Given the description of an element on the screen output the (x, y) to click on. 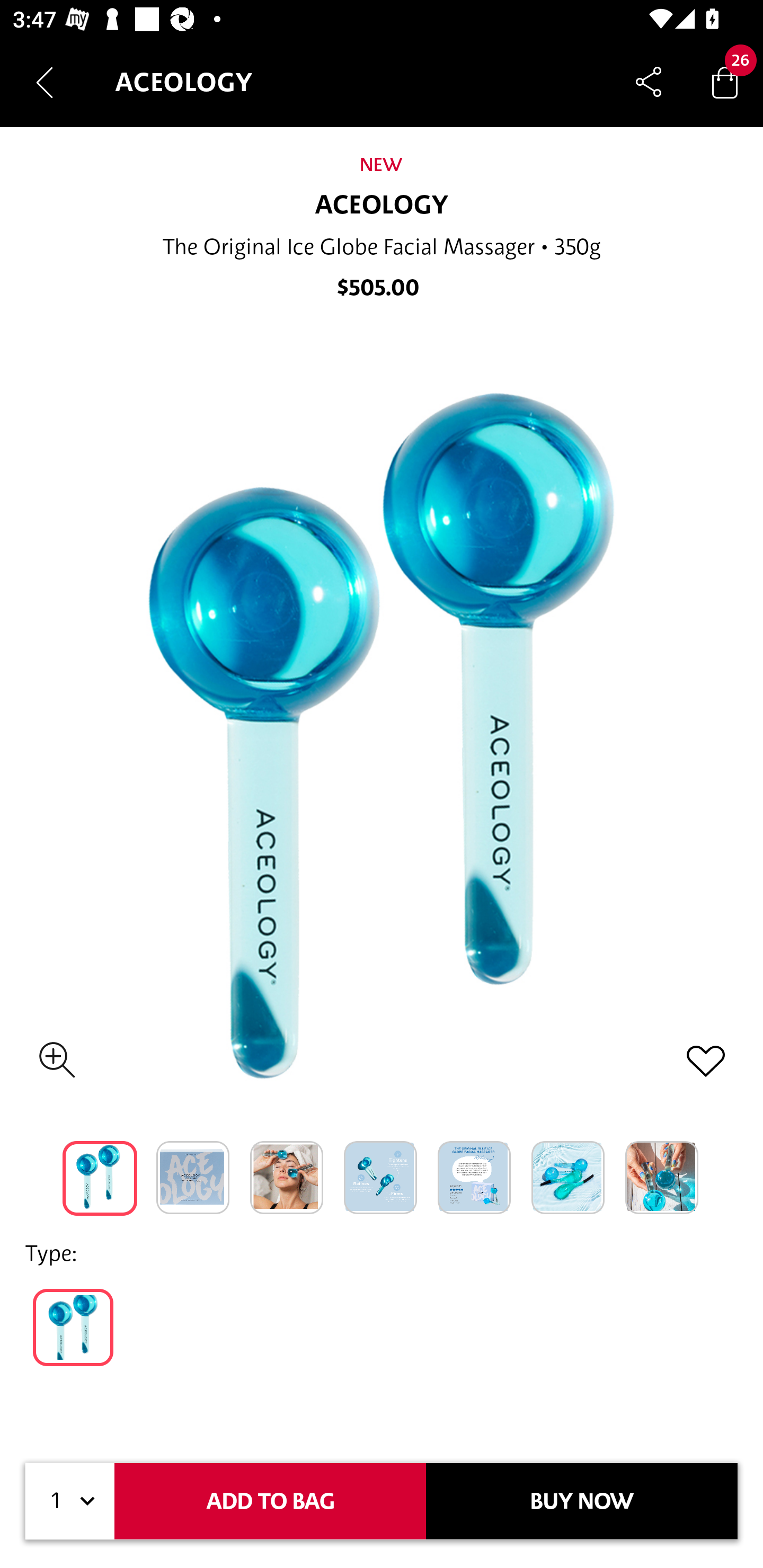
Navigate up (44, 82)
Share (648, 81)
Bag (724, 81)
ACEOLOGY (381, 205)
1 (69, 1500)
ADD TO BAG (269, 1500)
BUY NOW (581, 1500)
